Given the description of an element on the screen output the (x, y) to click on. 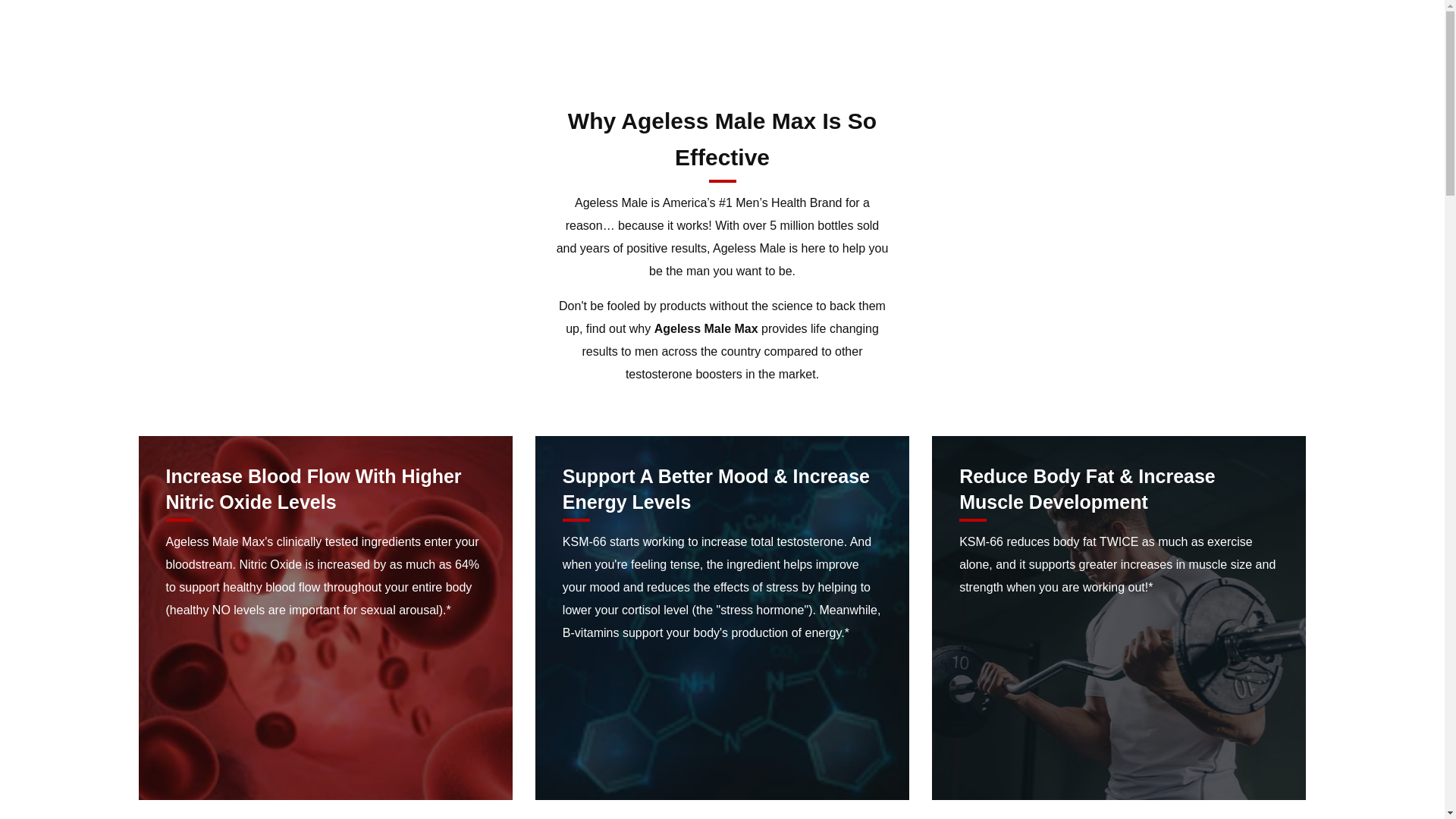
LOG IN (1360, 88)
800.475.7197 (1326, 63)
STORE LOCATOR (475, 63)
AGELESS MALE PRO-T (337, 63)
CONTACT US (583, 63)
 FIND A STORE (1278, 88)
SHOP (229, 63)
